Given the description of an element on the screen output the (x, y) to click on. 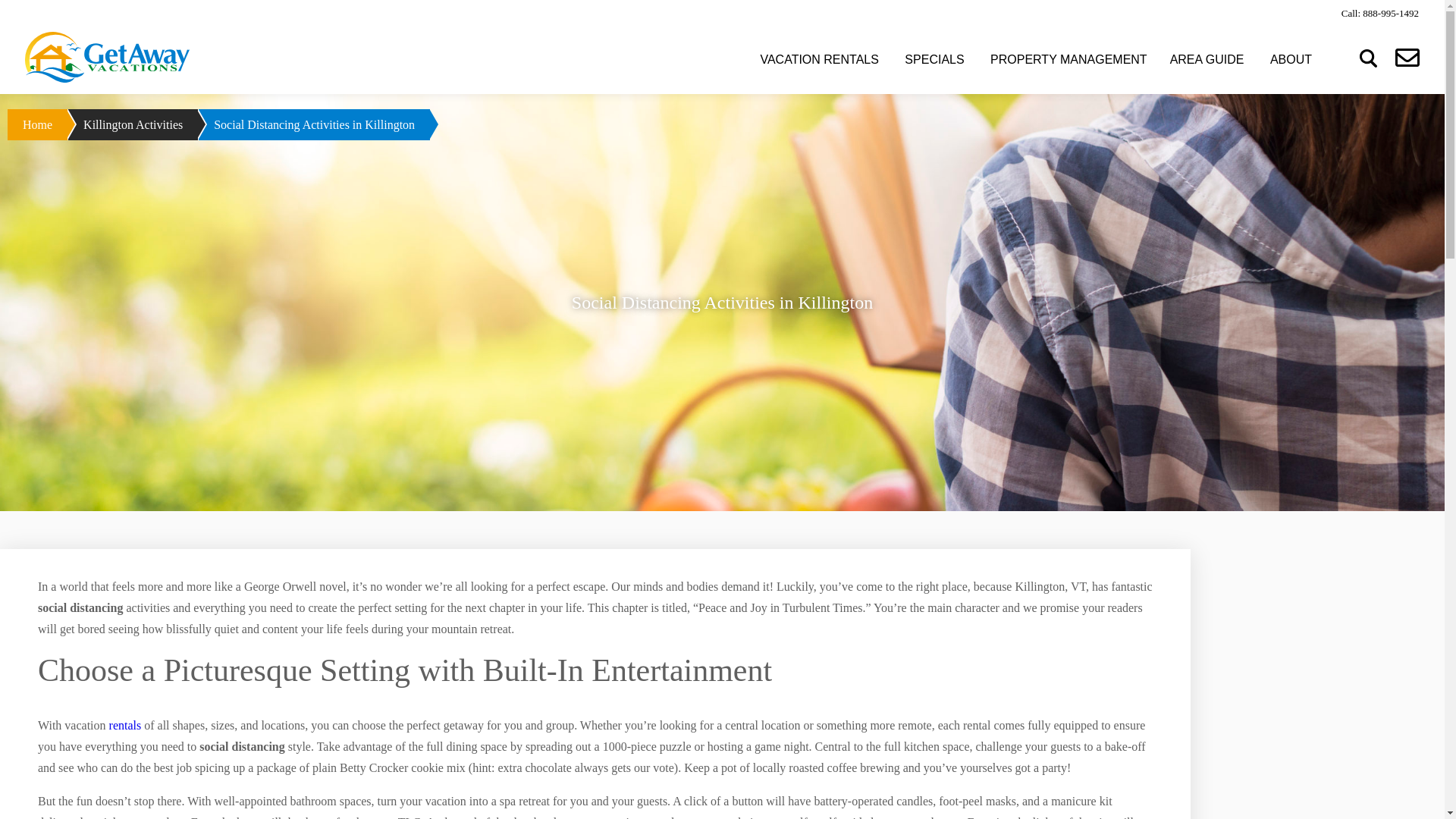
SPECIALS (934, 59)
PROPERTY MANAGEMENT (1068, 59)
Call: 888-995-1492 (1379, 12)
Killington, VT Vacation Rentals by GetAway Vacations Logo (106, 56)
VACATION RENTALS (818, 59)
